Given the description of an element on the screen output the (x, y) to click on. 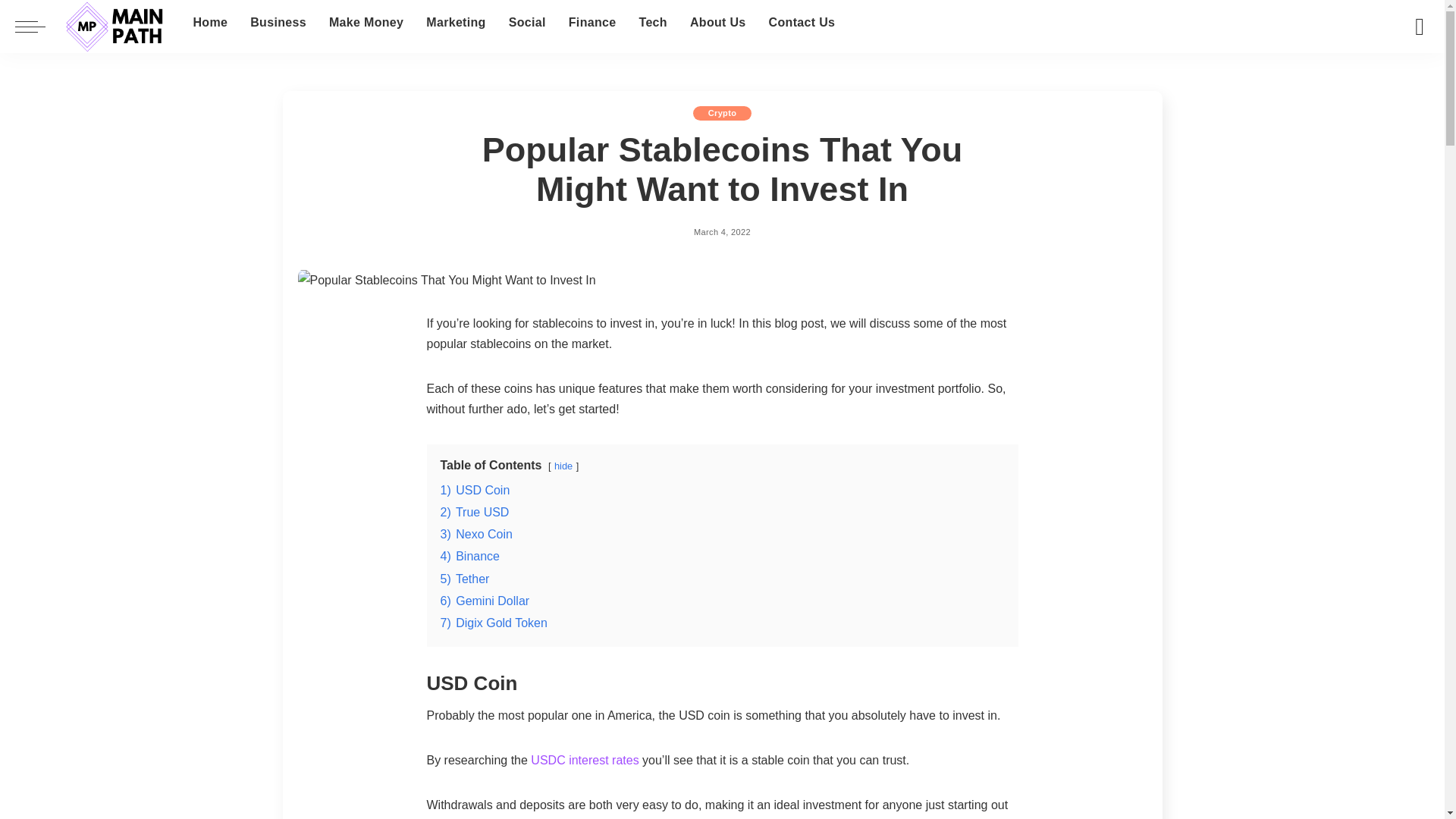
Marketing (455, 22)
Make Money (365, 22)
Main Path (115, 26)
Home (209, 22)
Tech (652, 22)
Business (277, 22)
Social (527, 22)
Search (1408, 73)
Finance (592, 22)
Contact Us (802, 22)
